Given the description of an element on the screen output the (x, y) to click on. 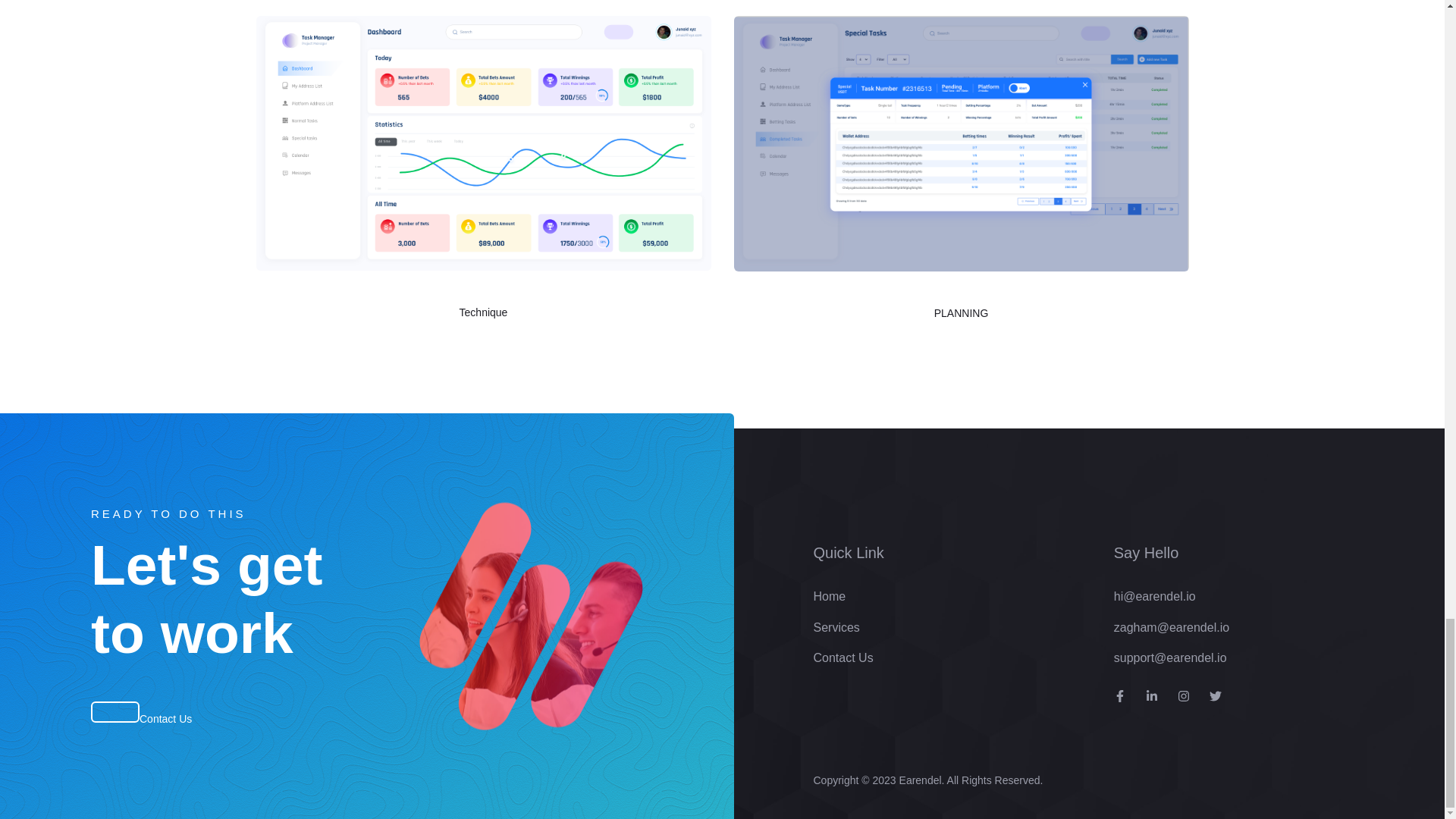
Services (835, 626)
Contact Us (842, 657)
Home (828, 595)
Contact Us (165, 718)
Digital Analysis (482, 280)
Plan Management (960, 281)
